Given the description of an element on the screen output the (x, y) to click on. 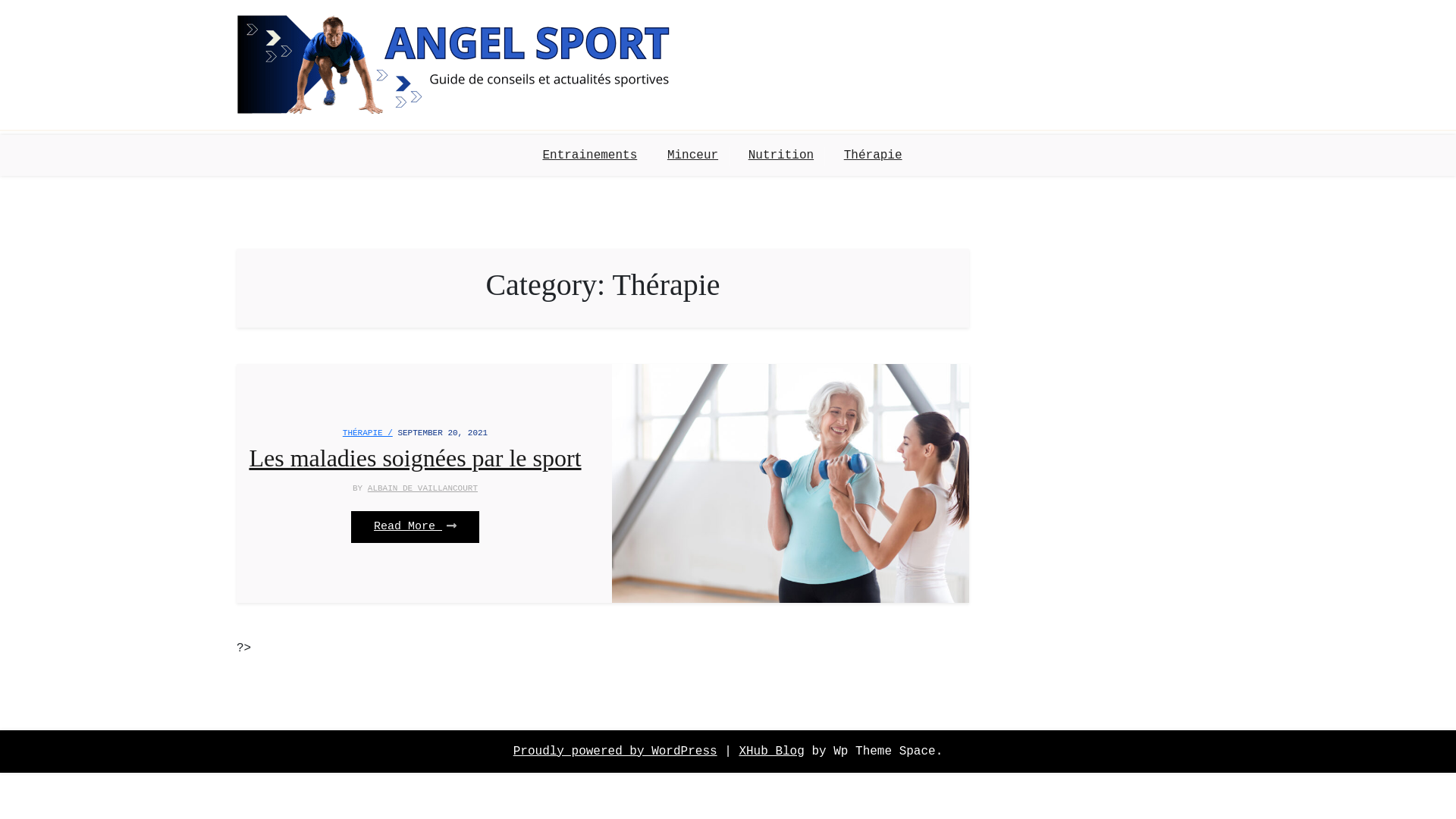
ALBAIN DE VAILLANCOURT Element type: text (422, 488)
Nutrition Element type: text (781, 154)
Entrainements Element type: text (595, 154)
Minceur Element type: text (692, 154)
XHub Blog Element type: text (770, 751)
Read More Element type: text (415, 527)
Proudly powered by WordPress Element type: text (615, 751)
